Given the description of an element on the screen output the (x, y) to click on. 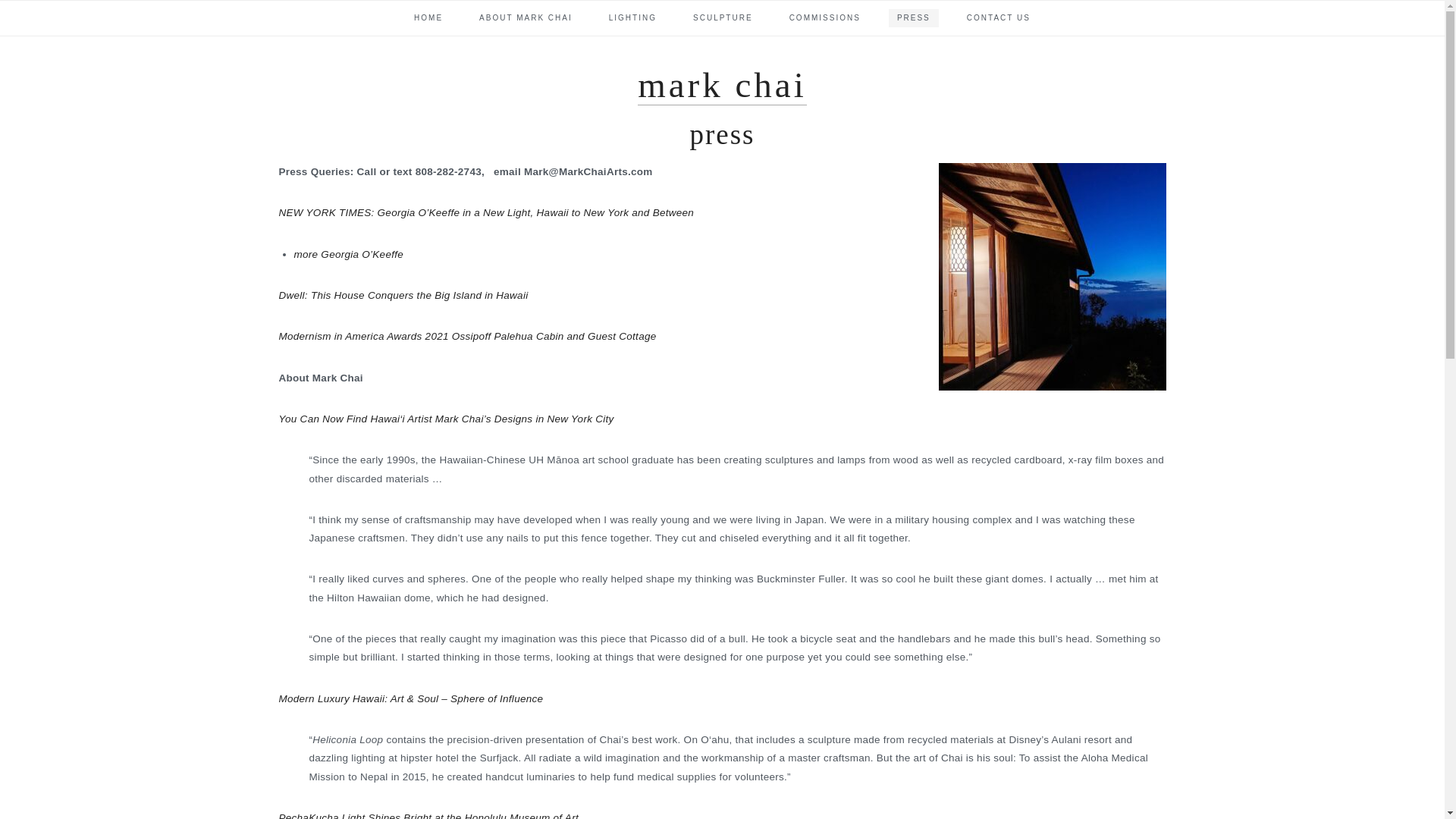
PRESS (913, 18)
LIGHTING (632, 18)
SCULPTURE (722, 18)
COMMISSIONS (824, 18)
Dwell: This House Conquers the Big Island in Hawaii (403, 295)
PechaKucha Light Shines Bright at the Honolulu Museum of Art (428, 815)
CONTACT US (998, 18)
ABOUT MARK CHAI (525, 18)
mark chai (721, 85)
HOME (428, 18)
